Given the description of an element on the screen output the (x, y) to click on. 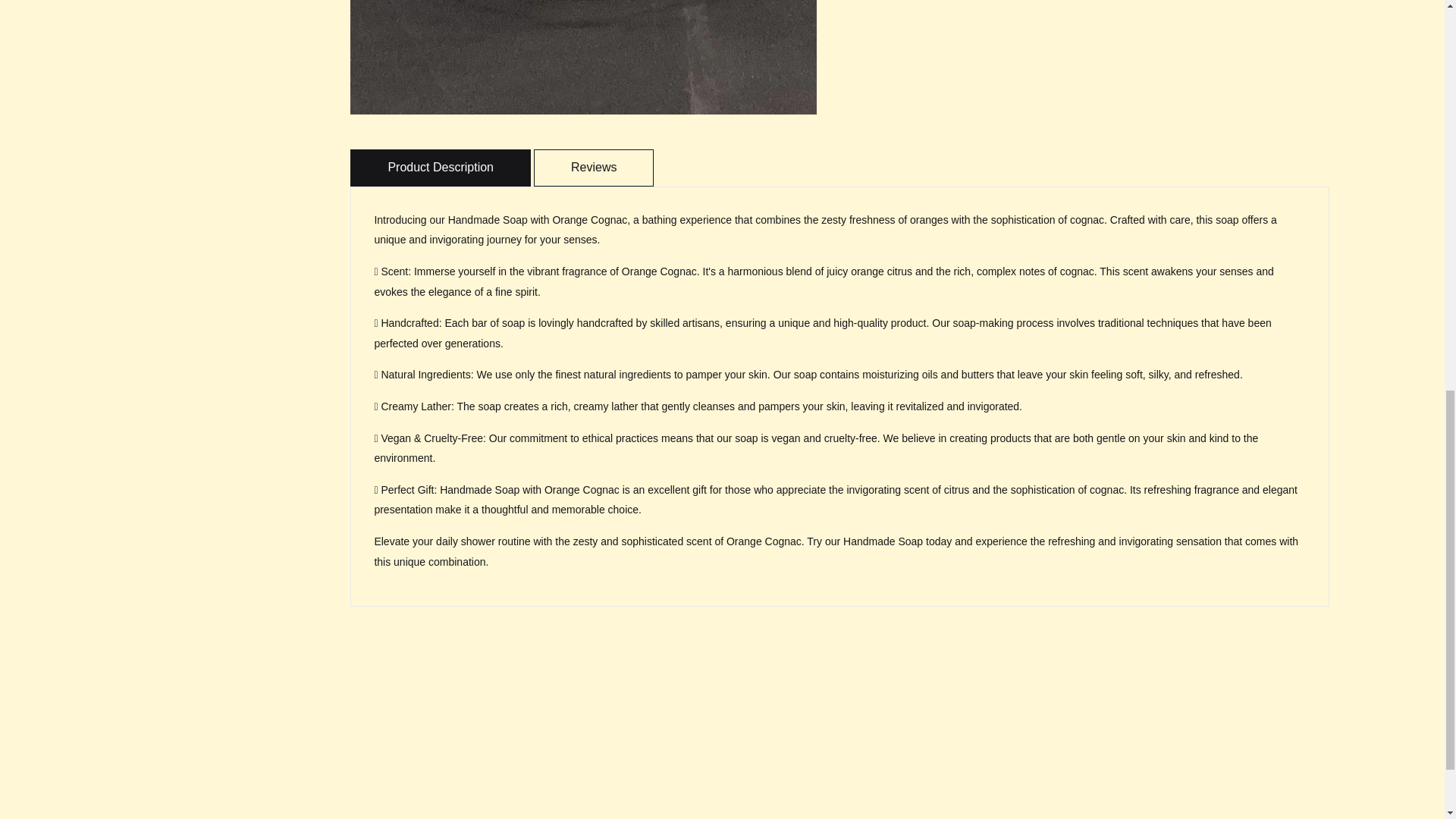
Reviews (593, 167)
Default Title (634, 89)
Dream (583, 57)
1 (764, 87)
Product Description (440, 167)
- (734, 87)
